Given the description of an element on the screen output the (x, y) to click on. 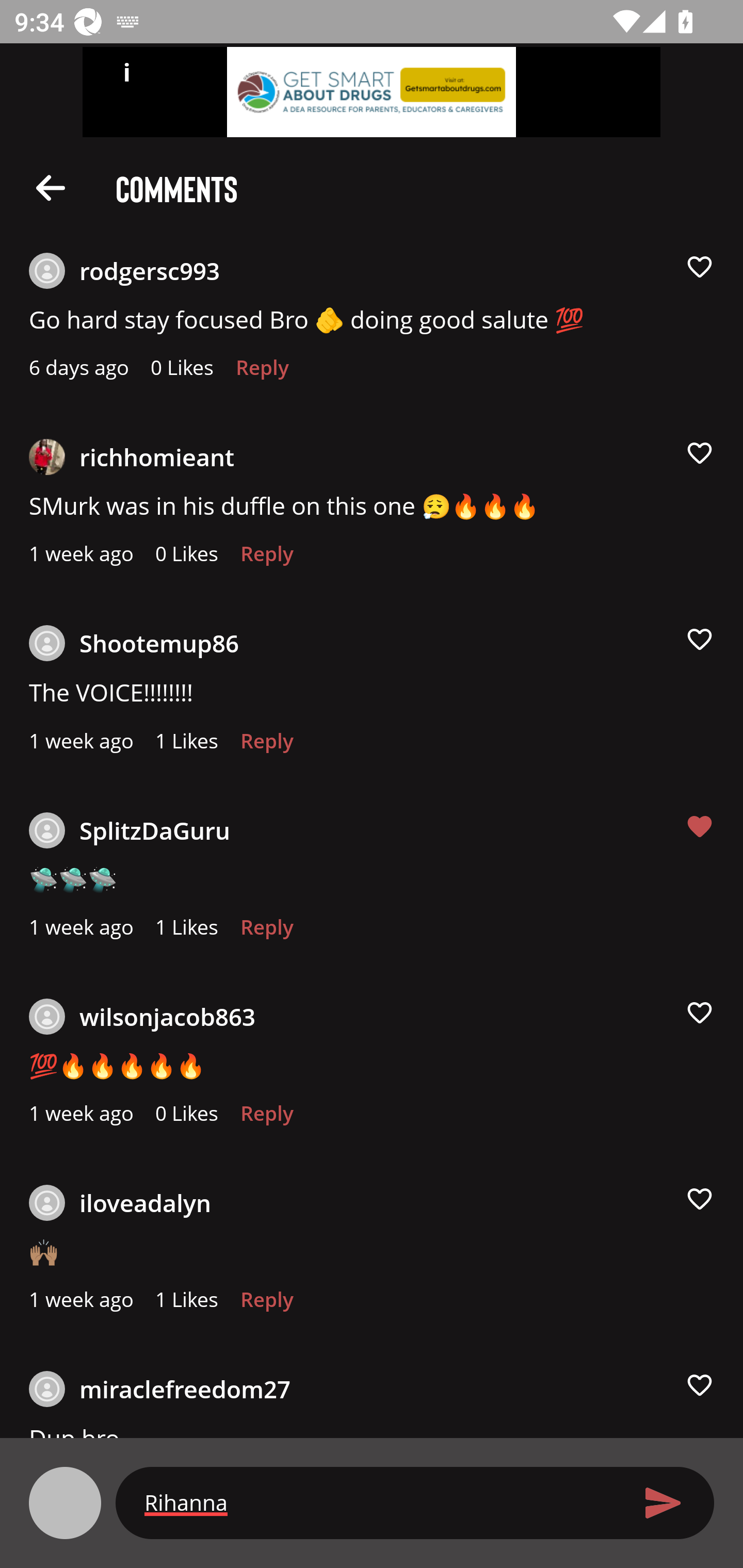
Description (50, 187)
Reply (261, 372)
Reply (266, 558)
Reply (266, 746)
Reply (266, 932)
Reply (266, 1117)
Reply (266, 1304)
Rihanna (378, 1502)
